Given the description of an element on the screen output the (x, y) to click on. 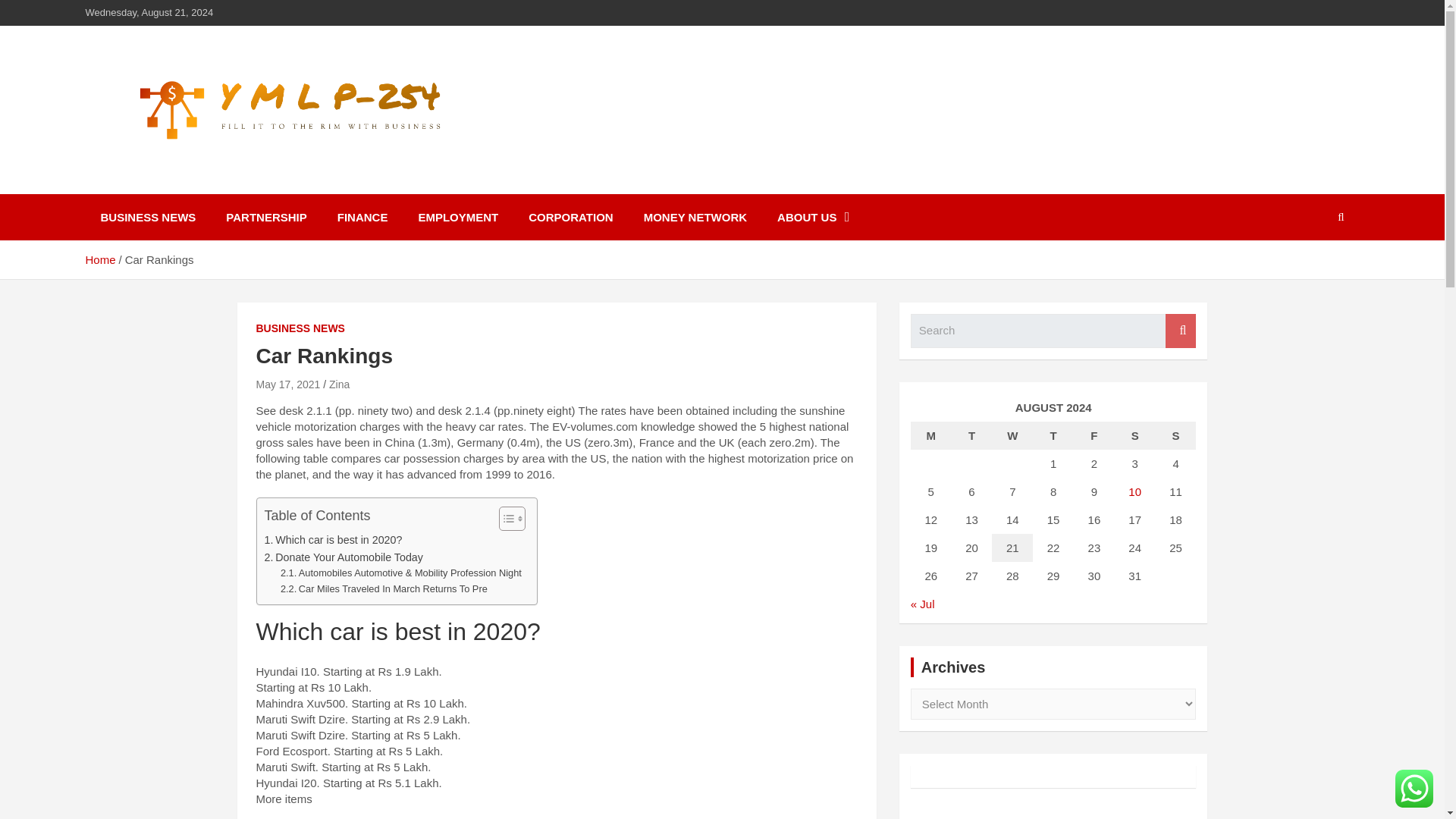
BUSINESS NEWS (300, 328)
Donate Your Automobile Today (342, 557)
MONEY NETWORK (694, 217)
Saturday (1135, 435)
Which car is best in 2020? (332, 539)
Zina (339, 384)
EMPLOYMENT (458, 217)
May 17, 2021 (288, 384)
Which car is best in 2020? (332, 539)
Thursday (1053, 435)
